Given the description of an element on the screen output the (x, y) to click on. 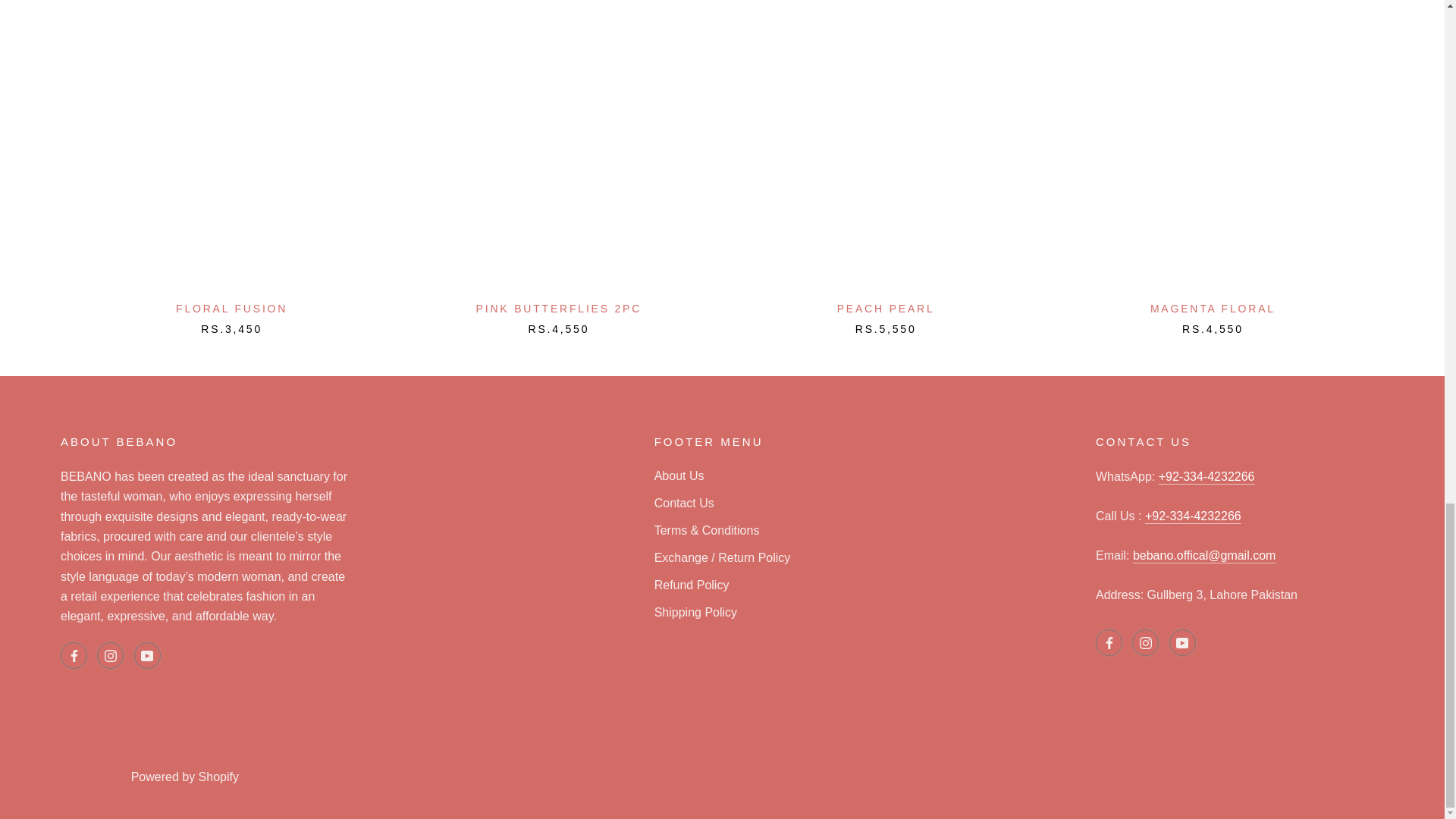
tel:923344232266 (1192, 515)
